Given the description of an element on the screen output the (x, y) to click on. 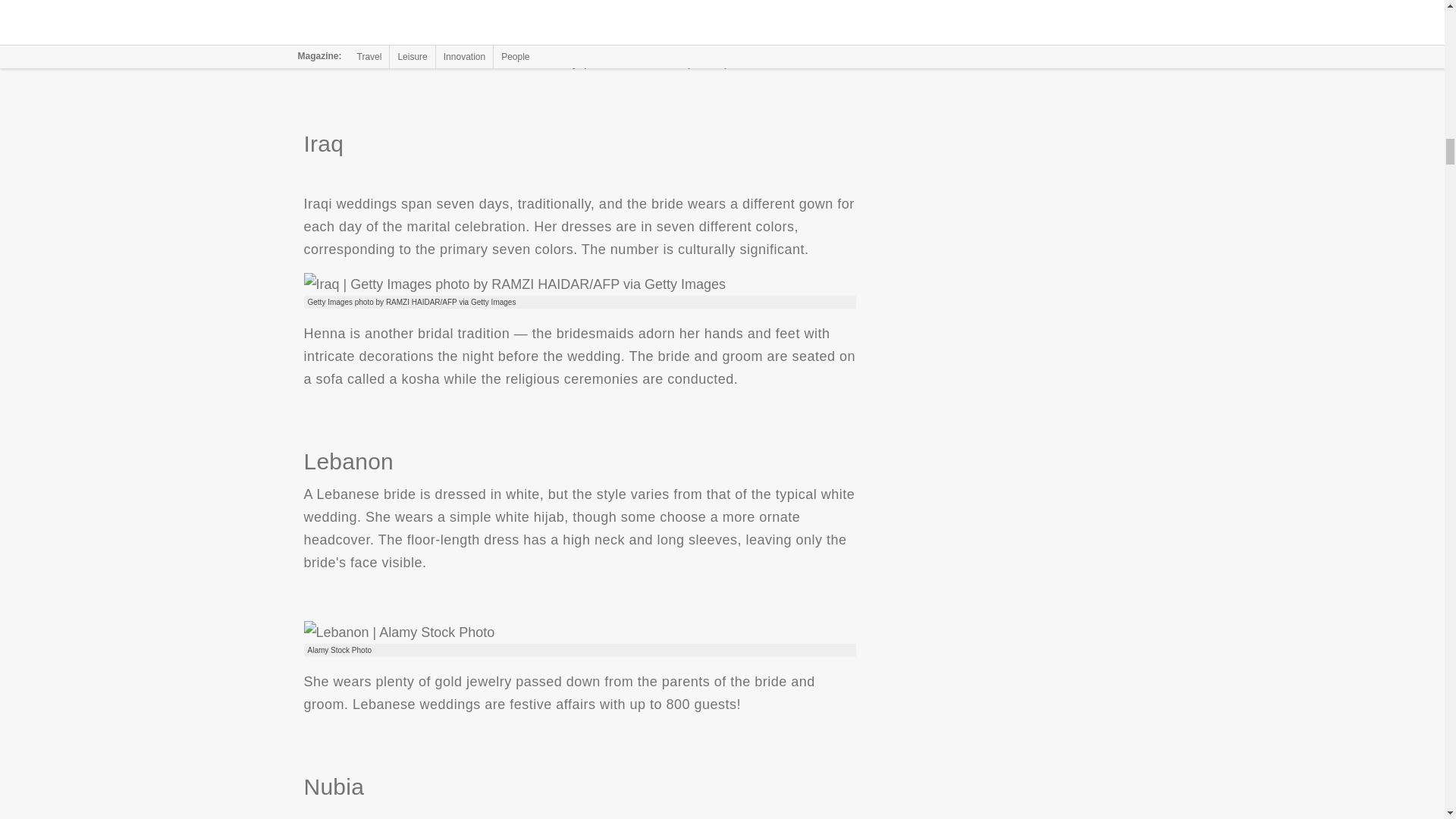
Lebanon (398, 631)
Iraq (513, 283)
